Given the description of an element on the screen output the (x, y) to click on. 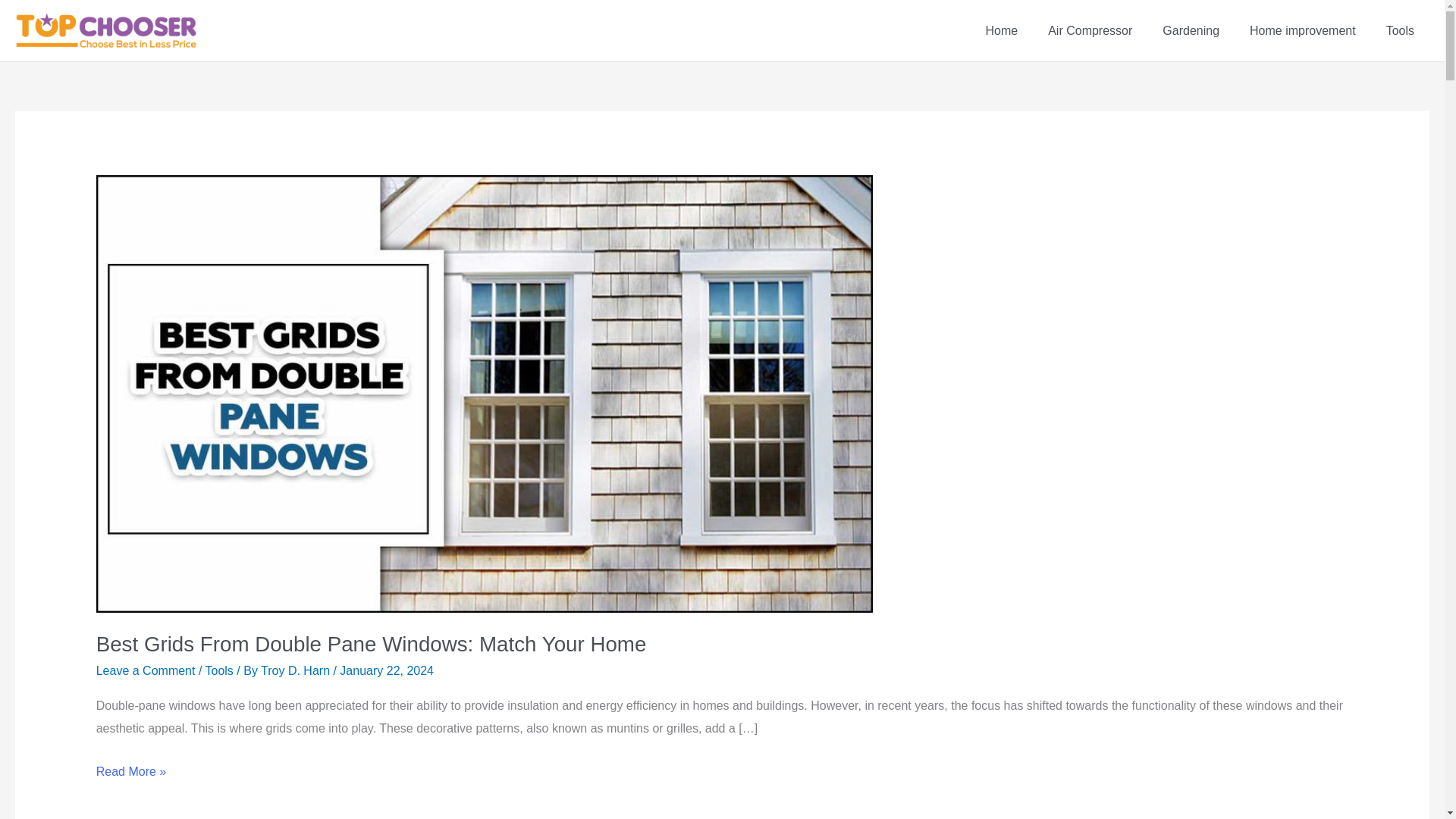
View all posts by Troy D. Harn (296, 670)
Best Grids From Double Pane Windows: Match Your Home (371, 644)
Troy D. Harn (296, 670)
Leave a Comment (145, 670)
Tools (218, 670)
Home improvement (1302, 29)
Home (1000, 29)
Air Compressor (1089, 29)
Tools (1400, 29)
Gardening (1190, 29)
